Given the description of an element on the screen output the (x, y) to click on. 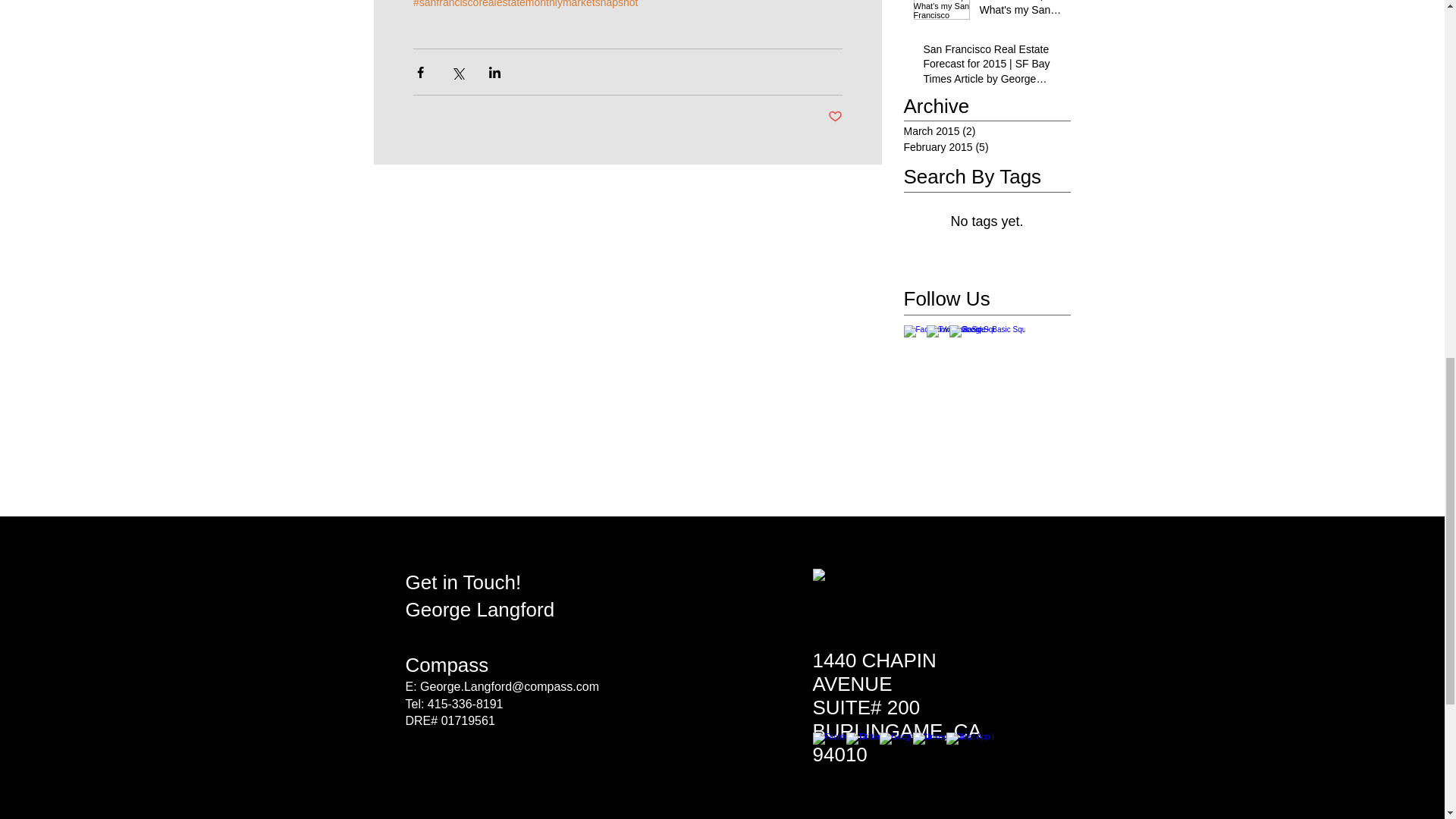
Get in Touch! (462, 581)
Compass (445, 664)
Post not marked as liked (835, 116)
